Given the description of an element on the screen output the (x, y) to click on. 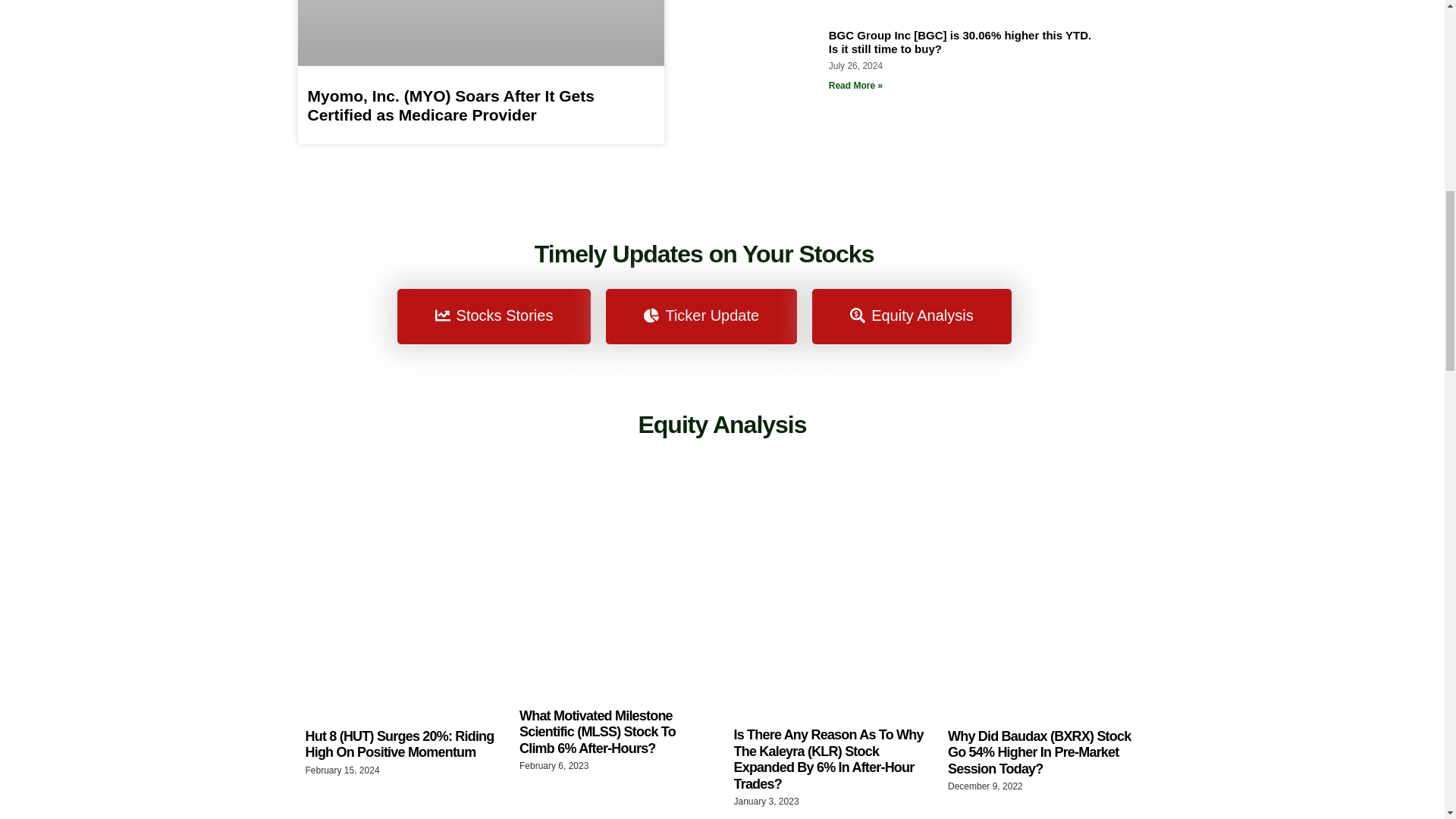
Ticker Update (700, 316)
Equity Analysis (721, 424)
Stocks Stories (494, 316)
Equity Analysis (911, 316)
